Given the description of an element on the screen output the (x, y) to click on. 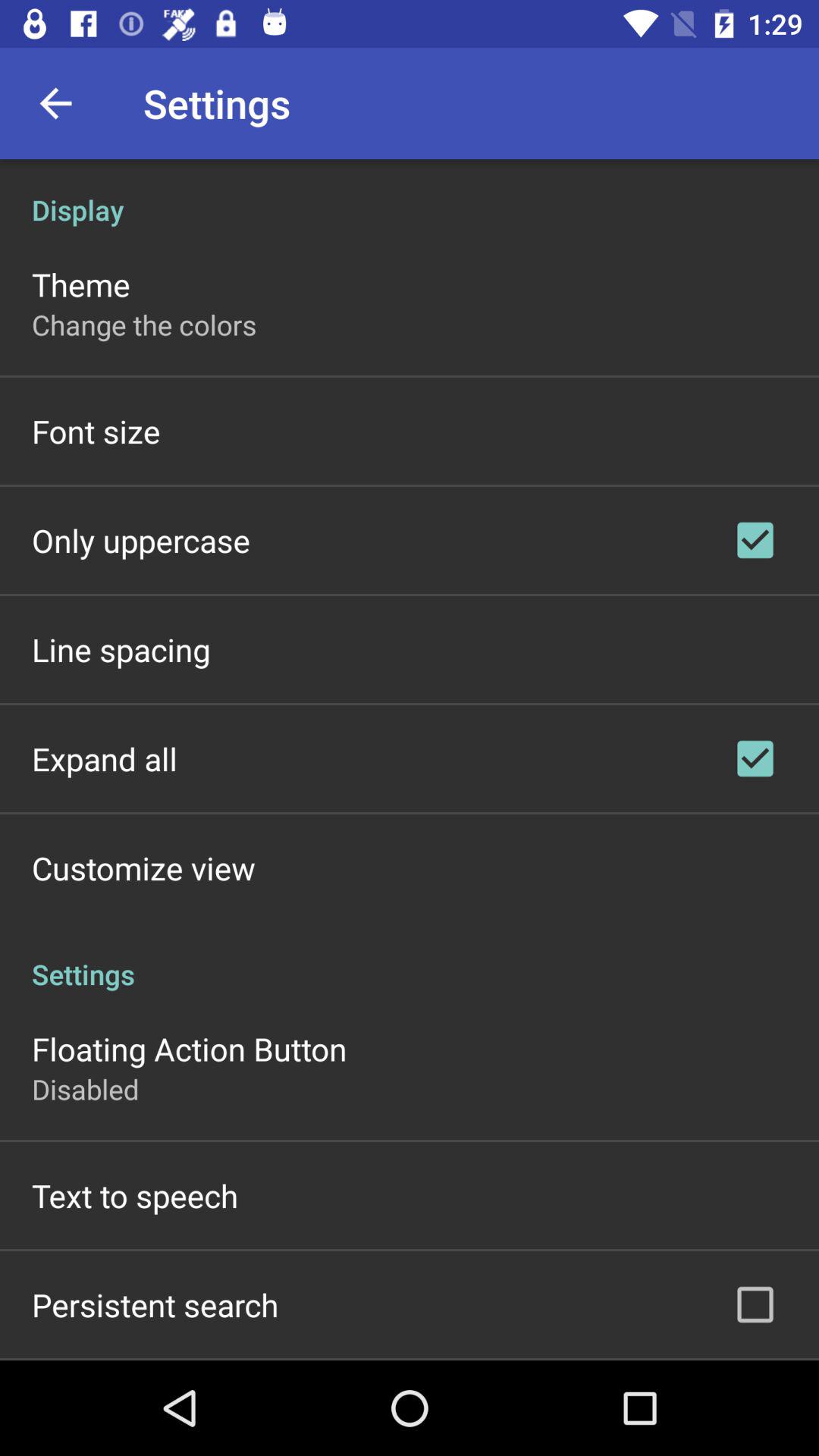
launch font size (95, 430)
